Given the description of an element on the screen output the (x, y) to click on. 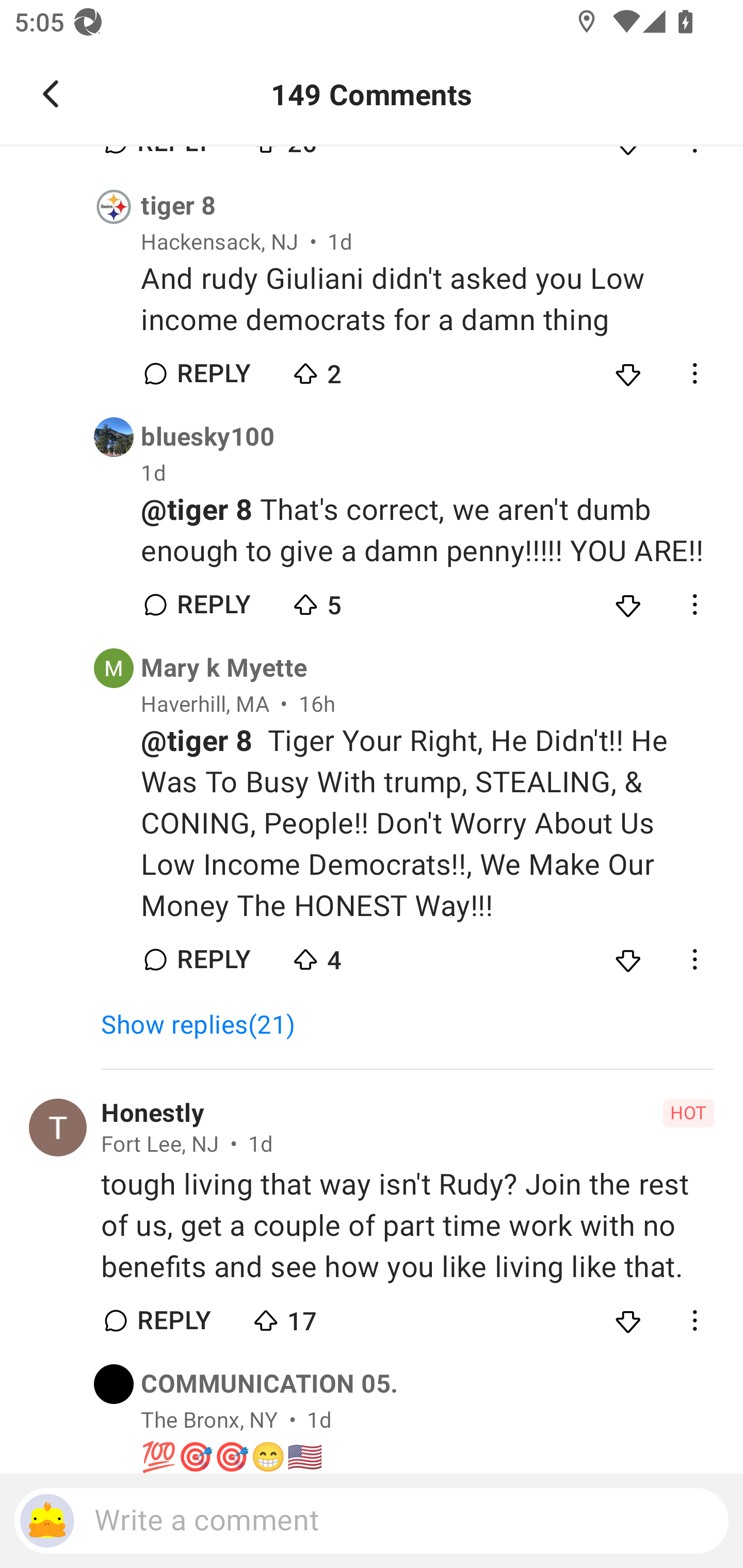
Navigate up (50, 93)
tiger 8 (178, 206)
2 (360, 369)
REPLY (213, 373)
bluesky100 (207, 436)
5 (360, 599)
REPLY (213, 604)
Mary k Myette (224, 668)
4 (360, 955)
REPLY (213, 959)
Show replies(21) (207, 1024)
Honestly (152, 1113)
17 (320, 1316)
REPLY (173, 1321)
COMMUNICATION 05. (269, 1383)
💯🎯🎯😁🇺🇸 (427, 1456)
Write a comment (371, 1520)
